Given the description of an element on the screen output the (x, y) to click on. 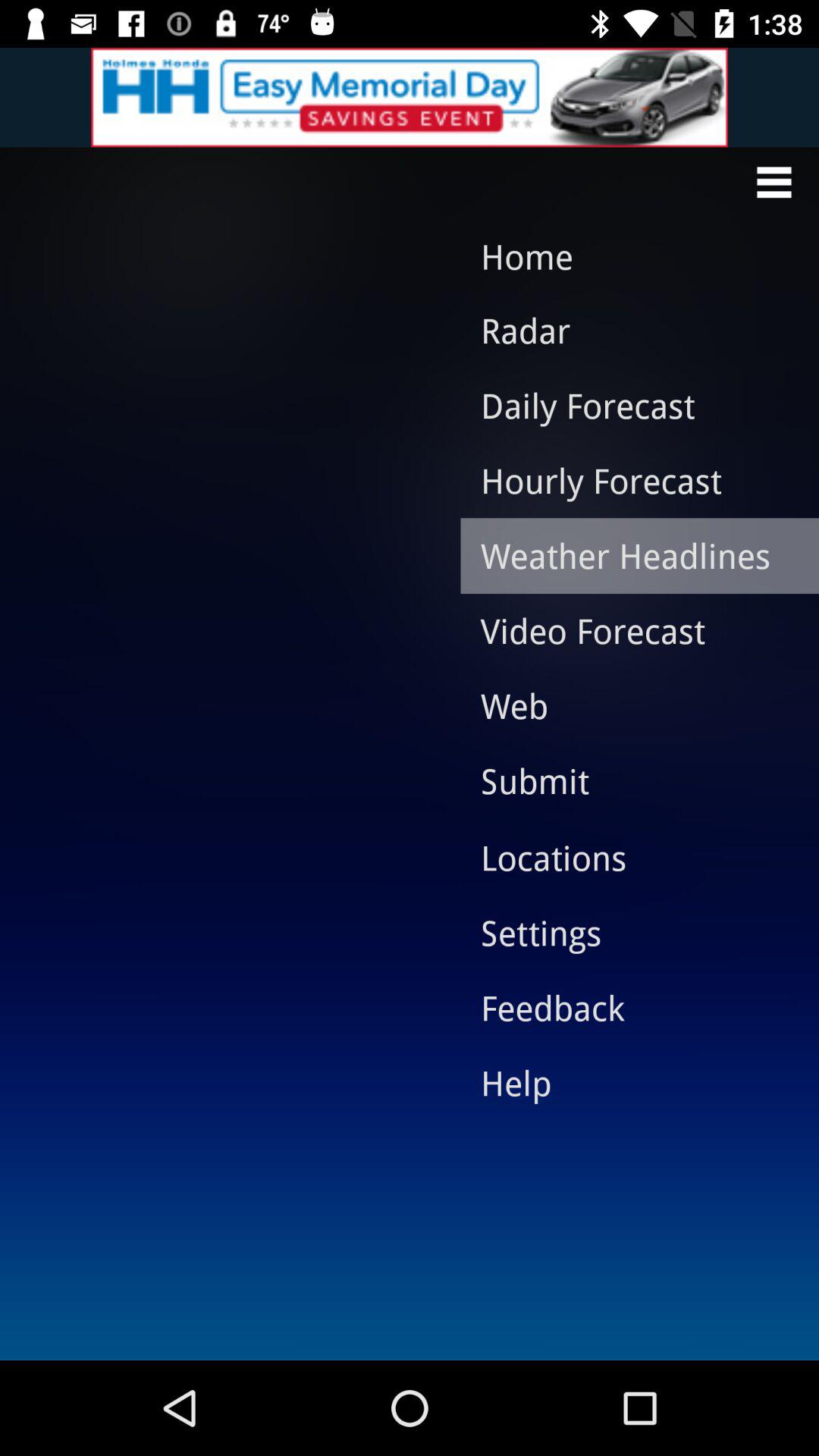
press the icon above the video forecast (627, 555)
